Given the description of an element on the screen output the (x, y) to click on. 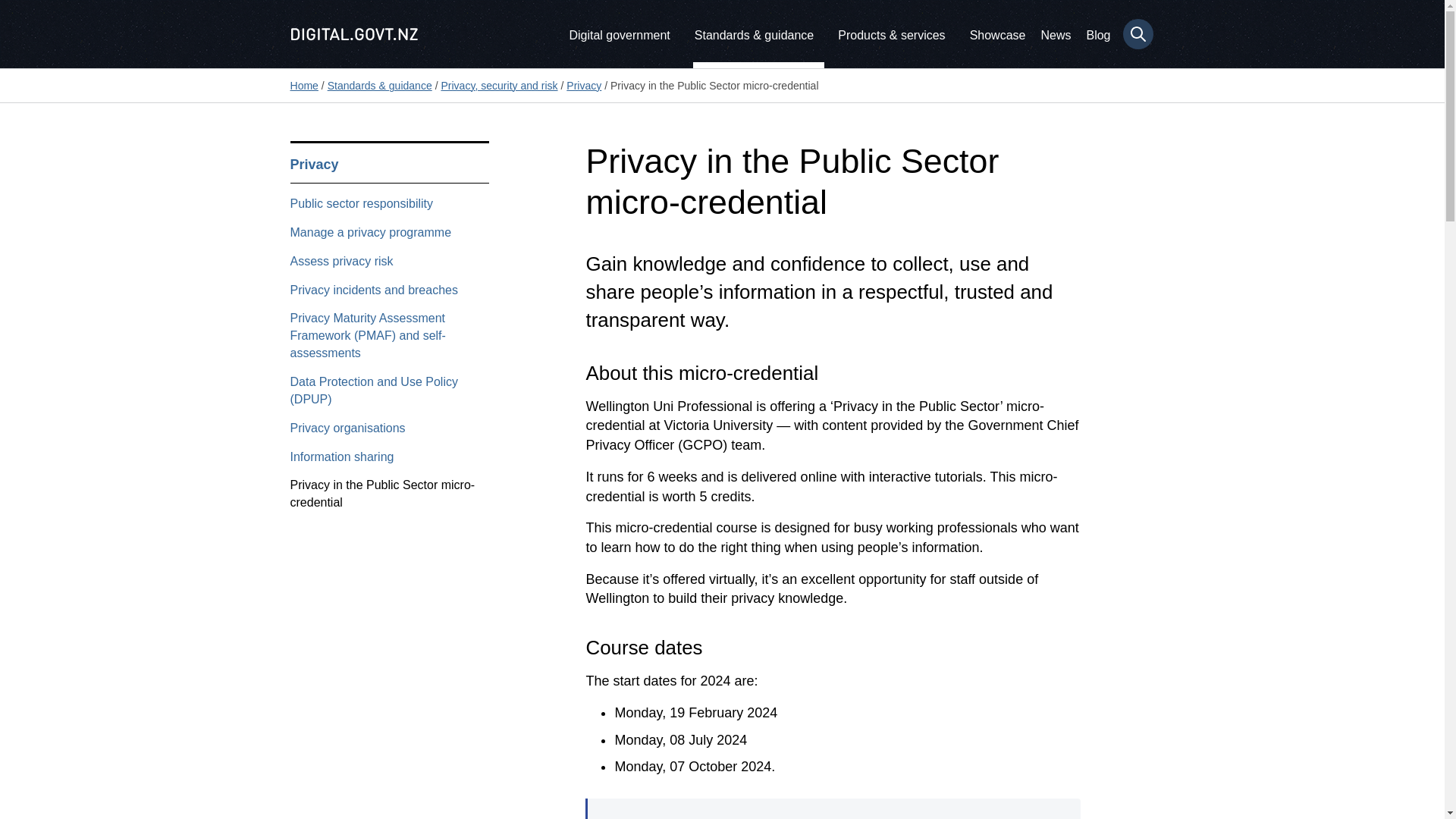
Privacy, security and risk (499, 85)
Digital government (619, 33)
Privacy (583, 85)
Home (303, 85)
